Given the description of an element on the screen output the (x, y) to click on. 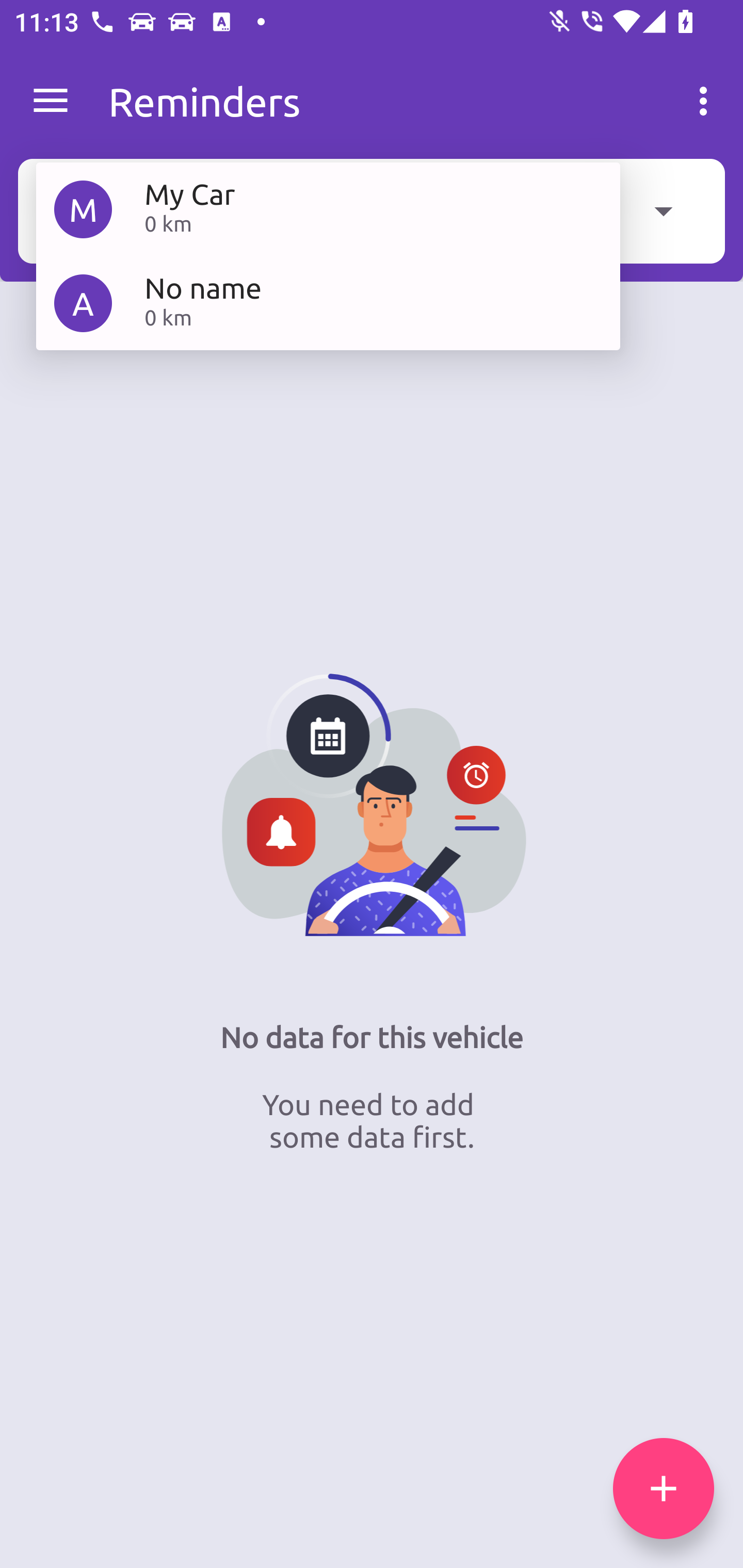
M My Car 0 km (328, 209)
A No name 0 km (328, 302)
